Given the description of an element on the screen output the (x, y) to click on. 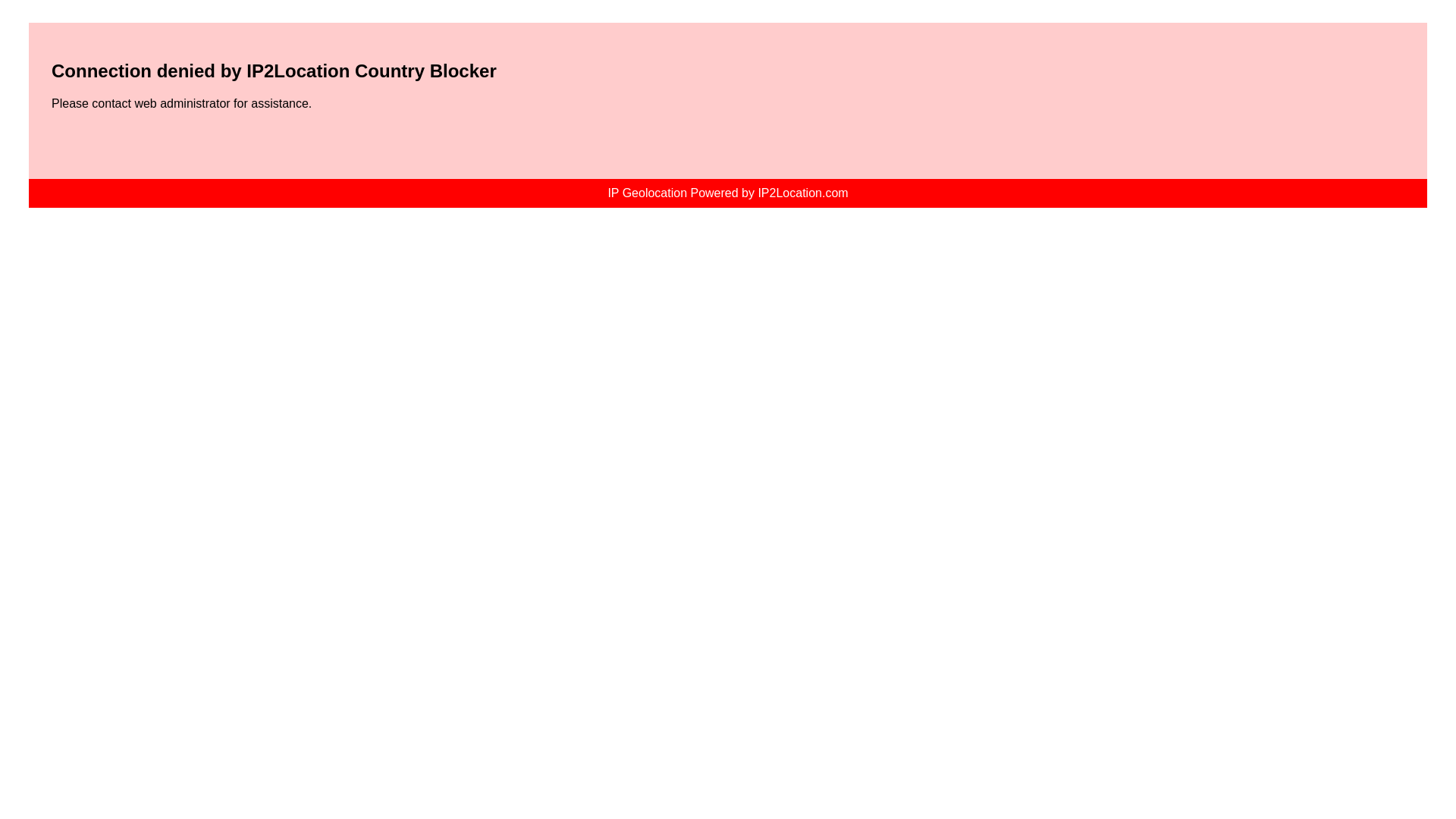
IP Geolocation Powered by IP2Location.com (727, 192)
